Given the description of an element on the screen output the (x, y) to click on. 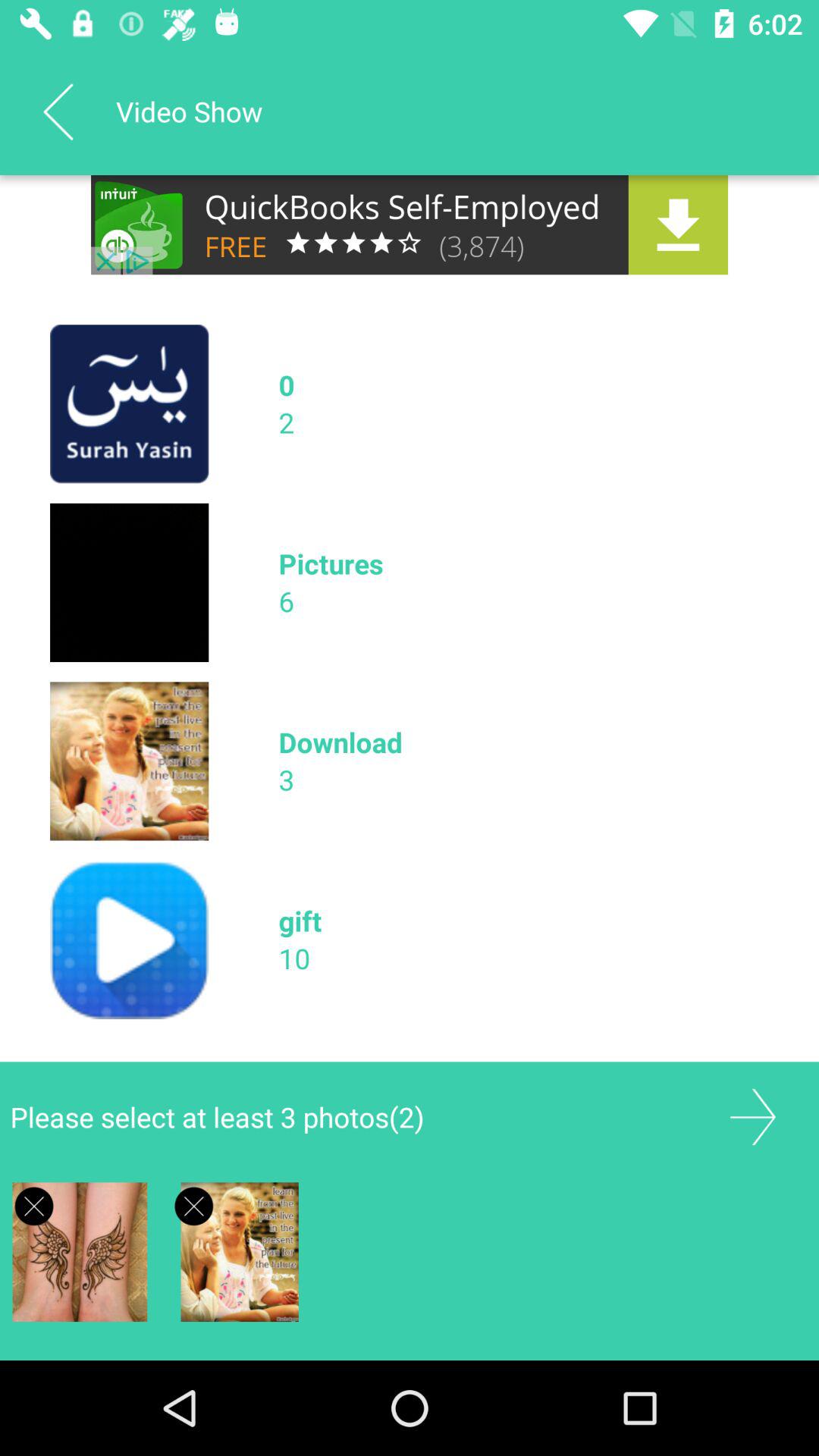
go to next page (752, 1116)
